Given the description of an element on the screen output the (x, y) to click on. 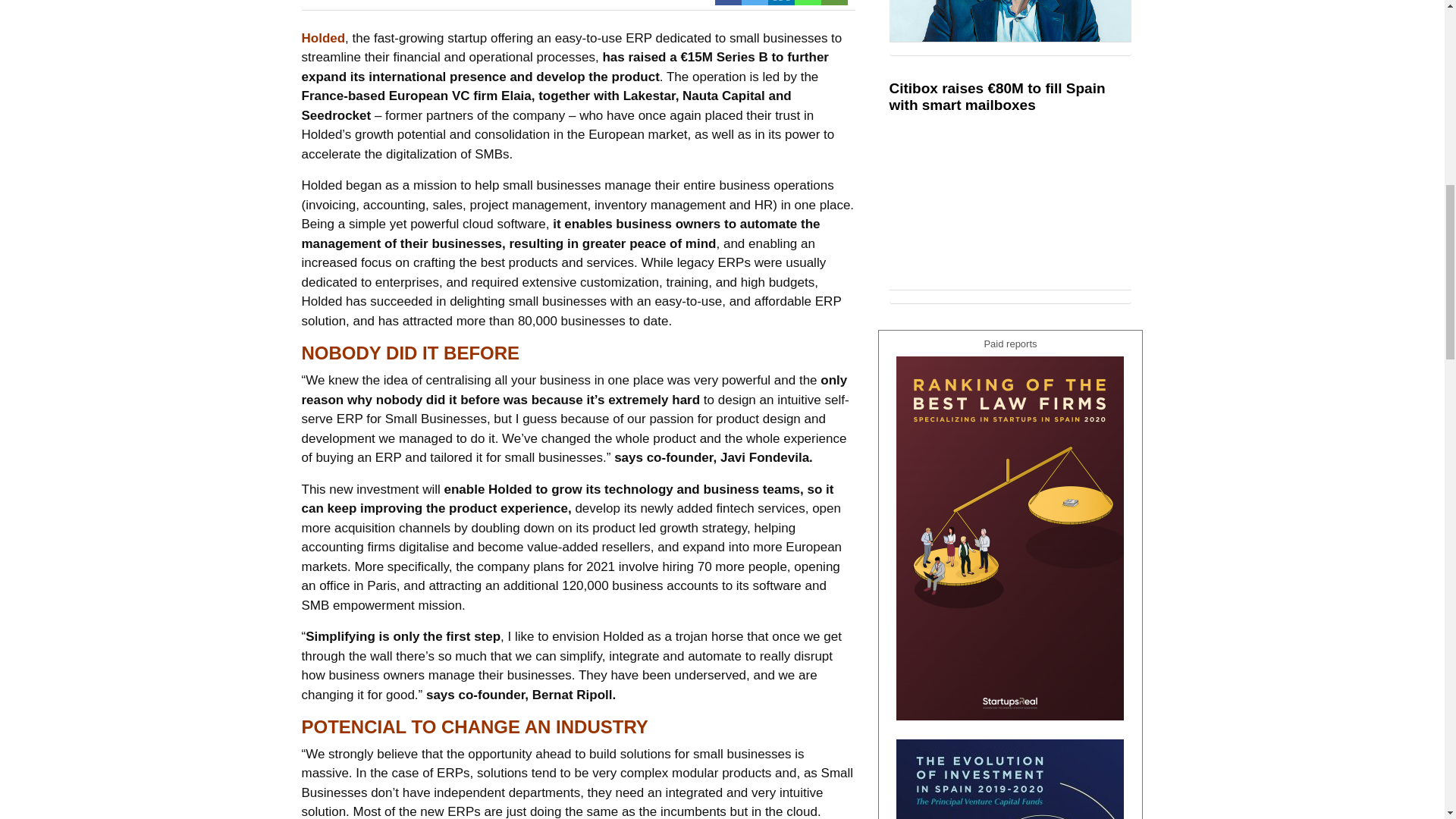
Linkedin (780, 2)
Facebook (727, 2)
Whatsapp (807, 2)
Twitter (754, 2)
Email (834, 2)
